Given the description of an element on the screen output the (x, y) to click on. 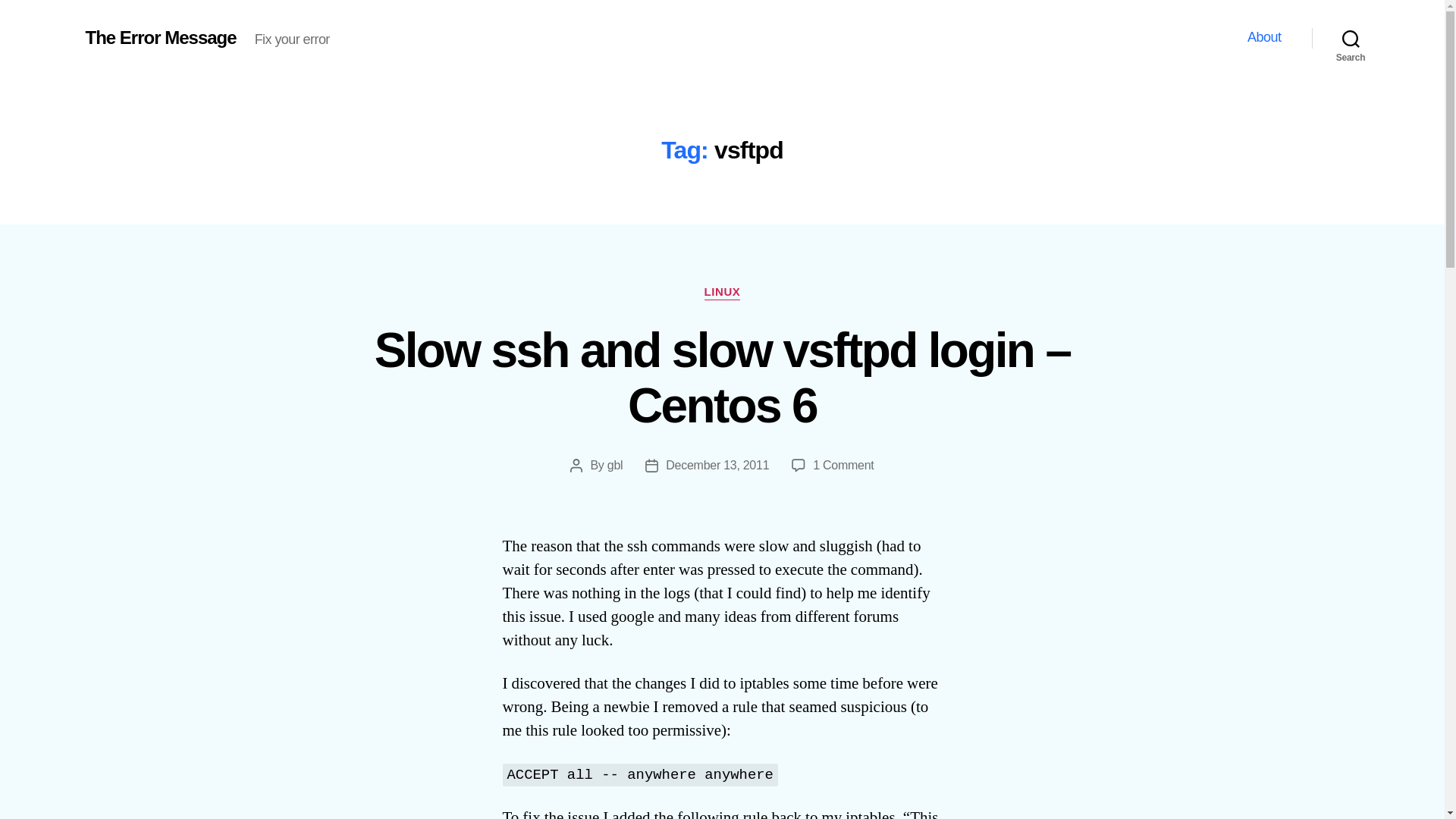
gbl (615, 464)
Search (1350, 37)
The Error Message (159, 37)
December 13, 2011 (716, 464)
LINUX (722, 292)
About (1264, 37)
